Given the description of an element on the screen output the (x, y) to click on. 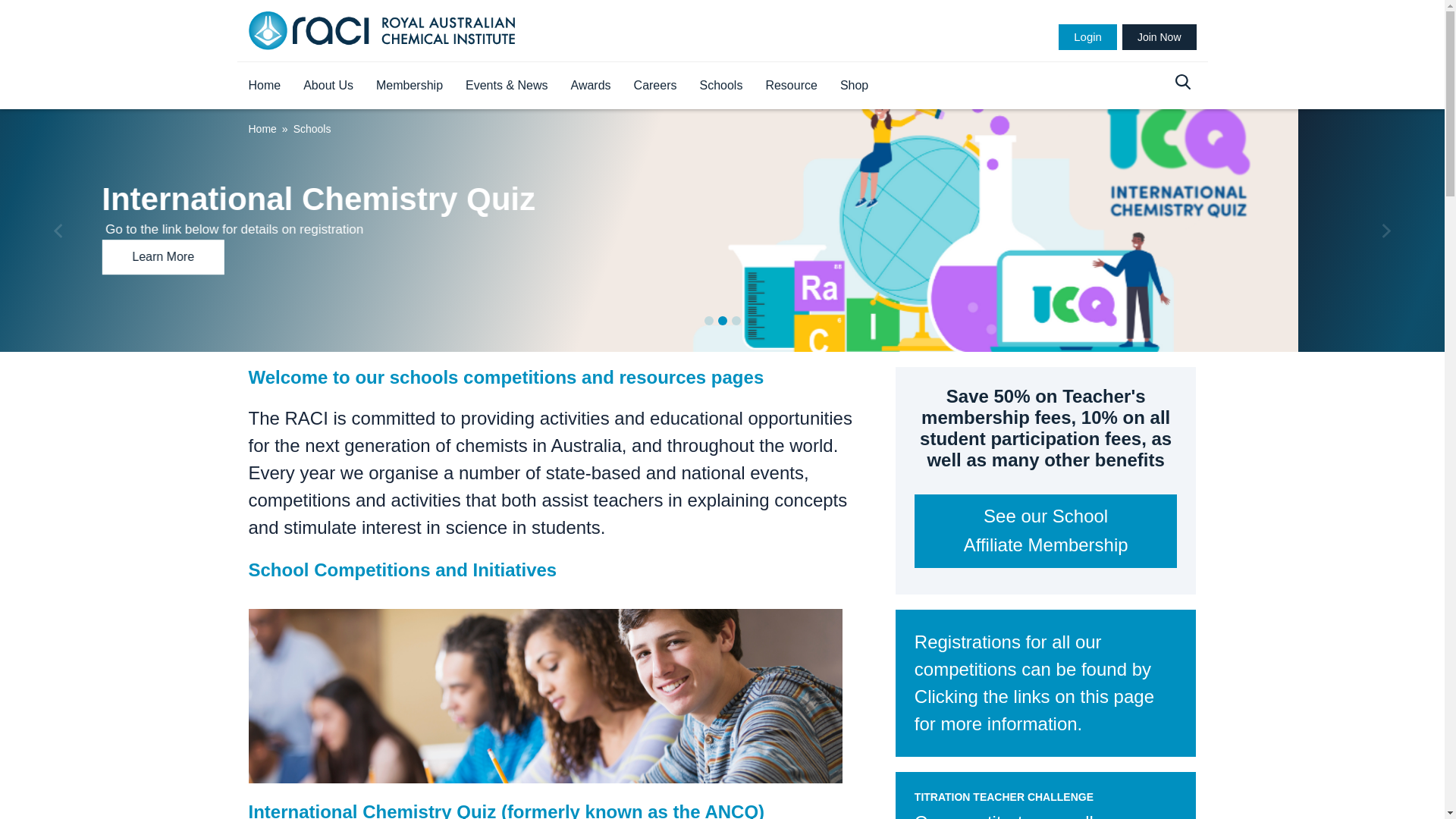
Membership Element type: text (409, 85)
Home Element type: text (263, 85)
RACI Element type: text (381, 30)
Learn More Element type: text (309, 256)
Go Element type: text (37, 15)
Events & News Element type: text (506, 85)
Awards Element type: text (590, 85)
See our School Affiliate Membership Element type: text (1045, 530)
Careers Element type: text (655, 85)
Resource Element type: text (790, 85)
About Us Element type: text (327, 85)
Join Now Element type: text (1159, 37)
Shop Element type: text (853, 85)
Login Element type: text (1087, 37)
Schools Element type: text (720, 85)
Home Element type: text (262, 128)
